Given the description of an element on the screen output the (x, y) to click on. 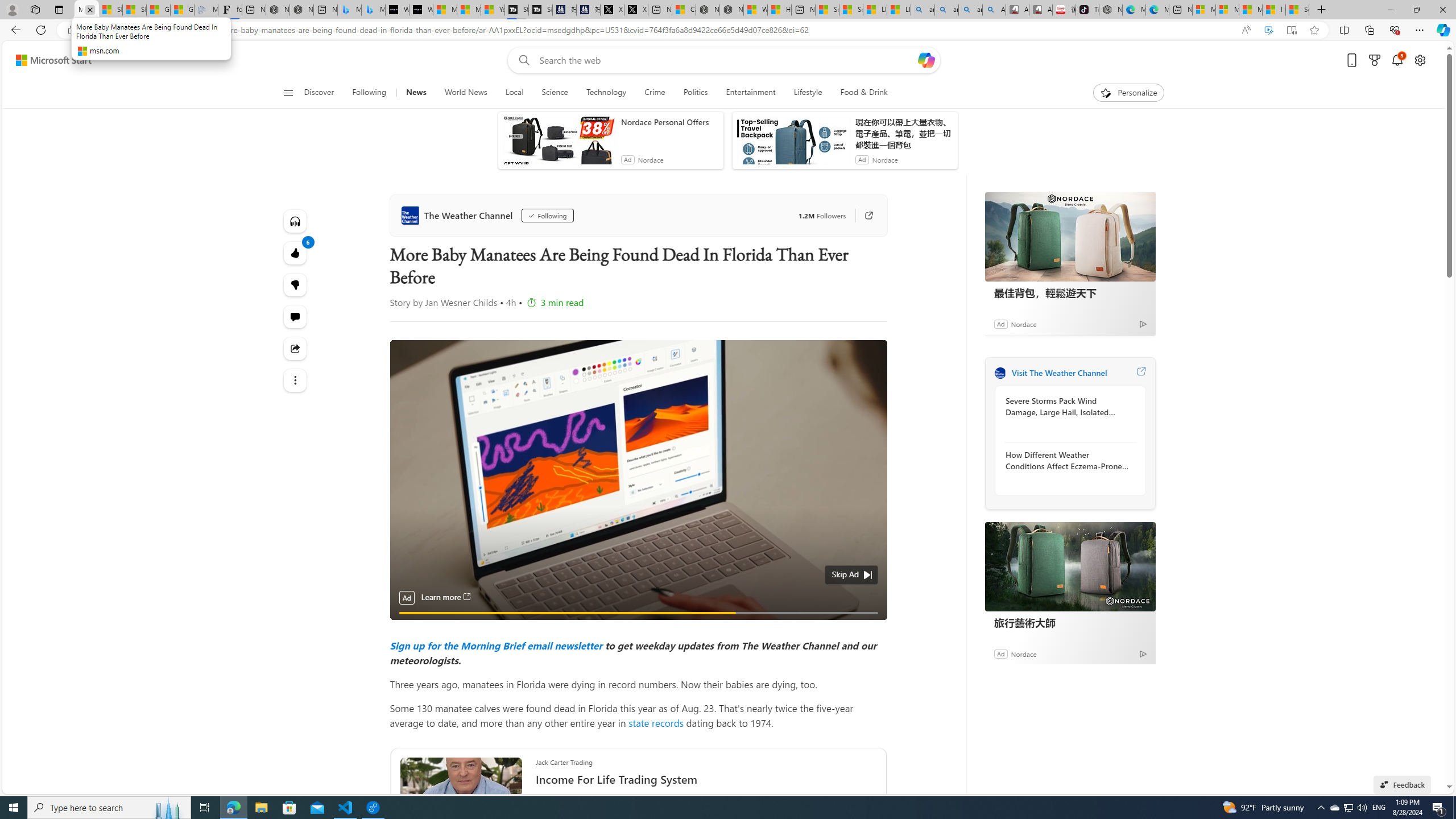
Sign up for the Morning Brief email newsletter (496, 644)
View site information (70, 29)
Go to publisher's site (863, 215)
Microsoft account | Privacy (1227, 9)
Notifications (1397, 60)
Amazon Echo Robot - Search Images (993, 9)
Streaming Coverage | T3 (515, 9)
Lifestyle (807, 92)
How Different Weather Conditions Affect Eczema-Prone Skin (1066, 459)
Browser essentials (1394, 29)
Enter your search term (726, 59)
6 Like (295, 252)
